Given the description of an element on the screen output the (x, y) to click on. 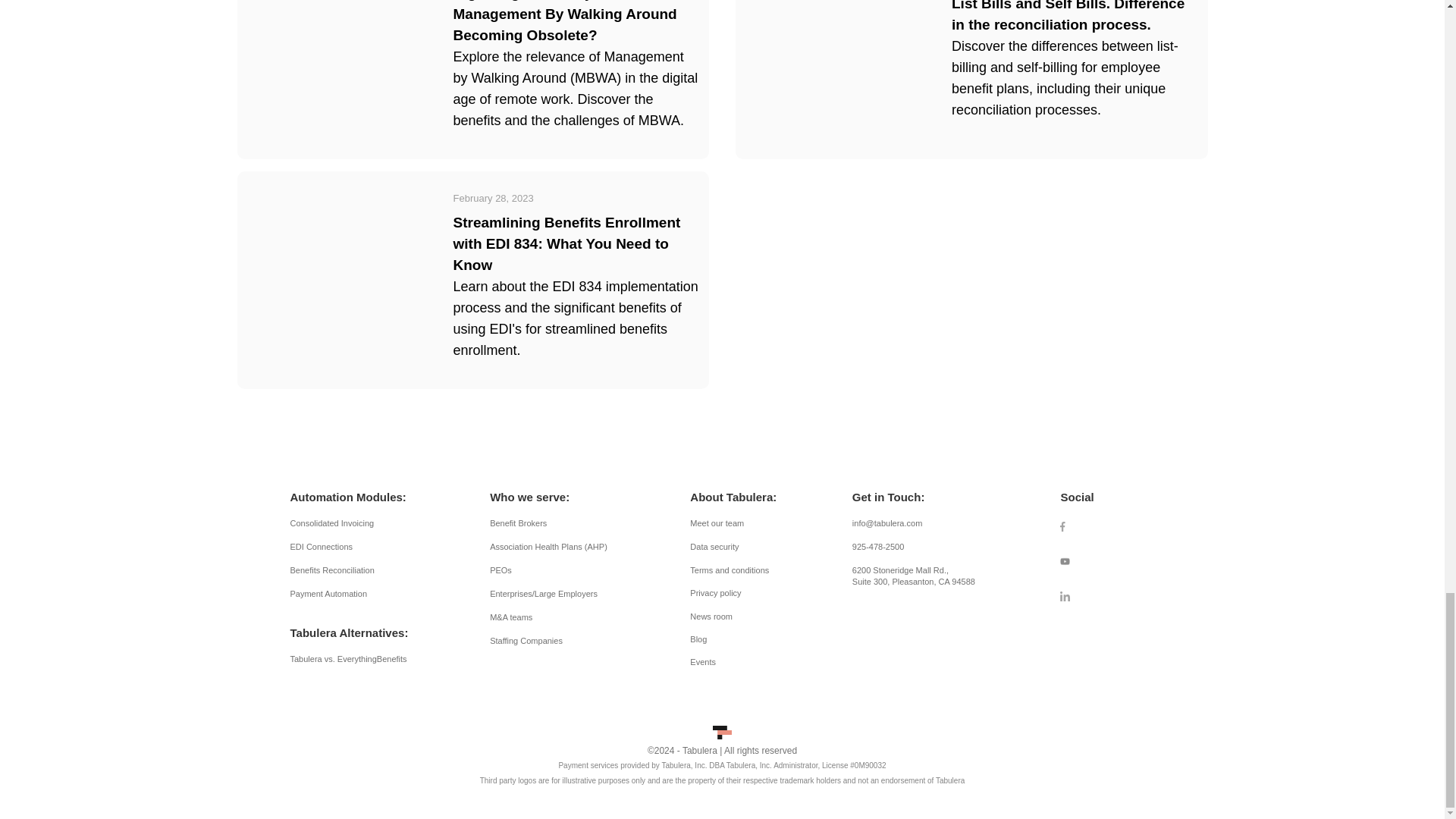
EDI Connections (353, 546)
Consolidated Invoicing (353, 523)
Benefits Reconciliation (353, 570)
